Given the description of an element on the screen output the (x, y) to click on. 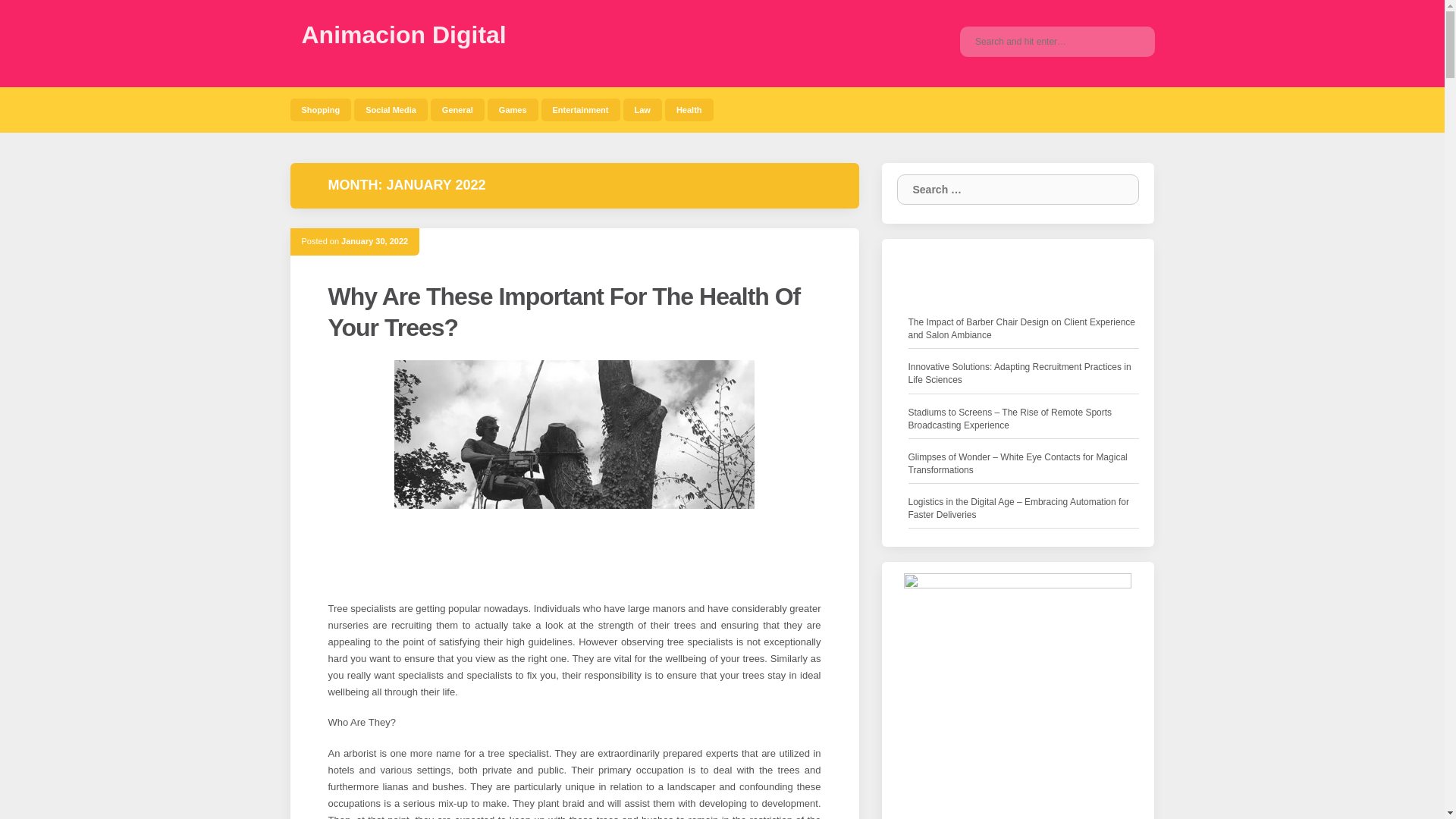
Entertainment (580, 109)
Search (1115, 189)
Health (689, 109)
January 30, 2022 (373, 240)
Why Are These Important For The Health Of Your Trees? (563, 312)
Law (642, 109)
Search (1115, 189)
Health (689, 109)
Search (1131, 41)
Law (642, 109)
Shopping (319, 109)
Games (512, 109)
Search (1131, 41)
Games (512, 109)
Animacion Digital (403, 34)
